Given the description of an element on the screen output the (x, y) to click on. 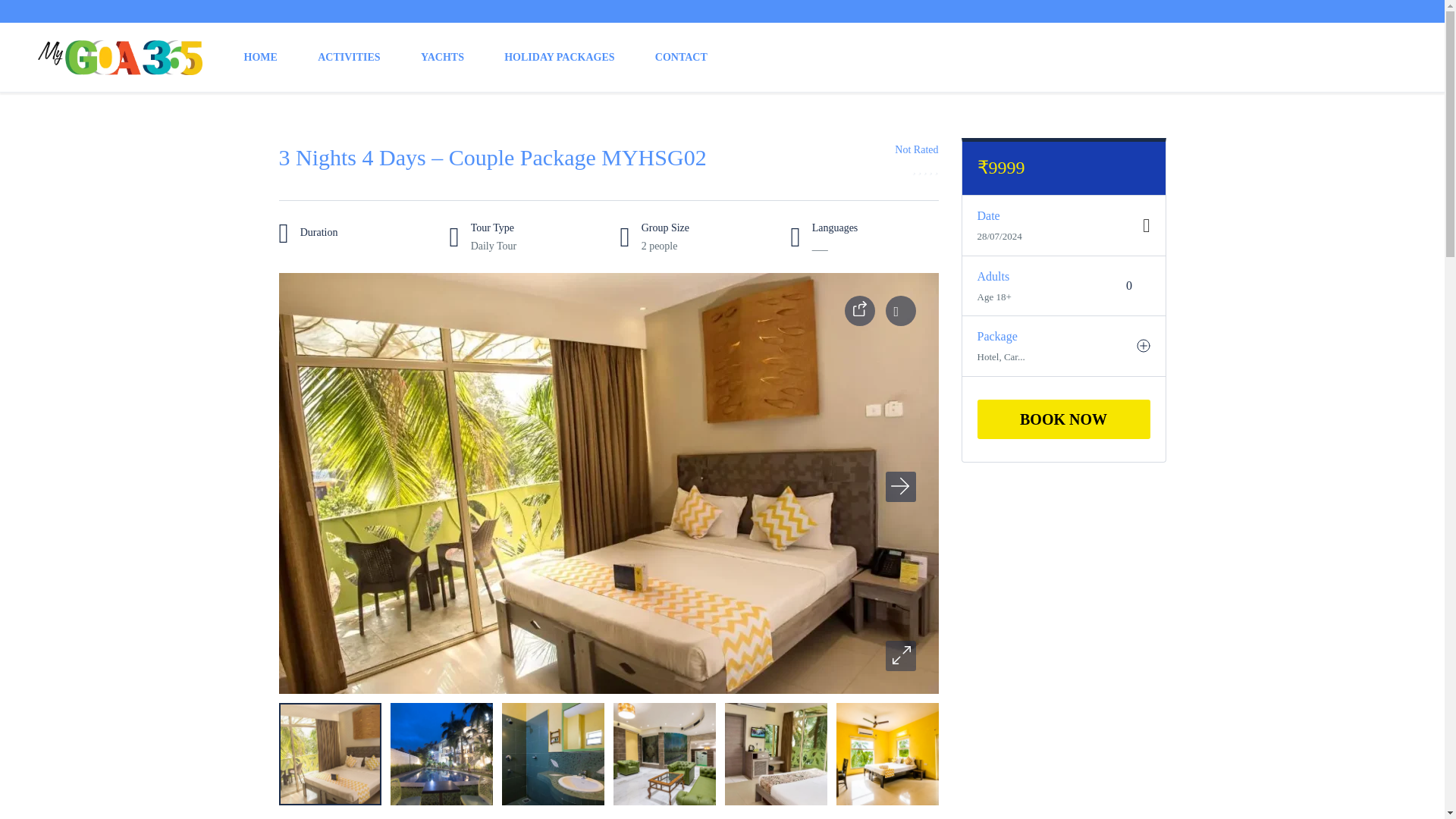
CONTACT (681, 56)
YACHTS (442, 56)
ACTIVITIES (348, 56)
HOME (261, 56)
0 (1129, 285)
BOOK NOW (1063, 418)
HOLIDAY PACKAGES (558, 56)
Send message (53, 20)
